Given the description of an element on the screen output the (x, y) to click on. 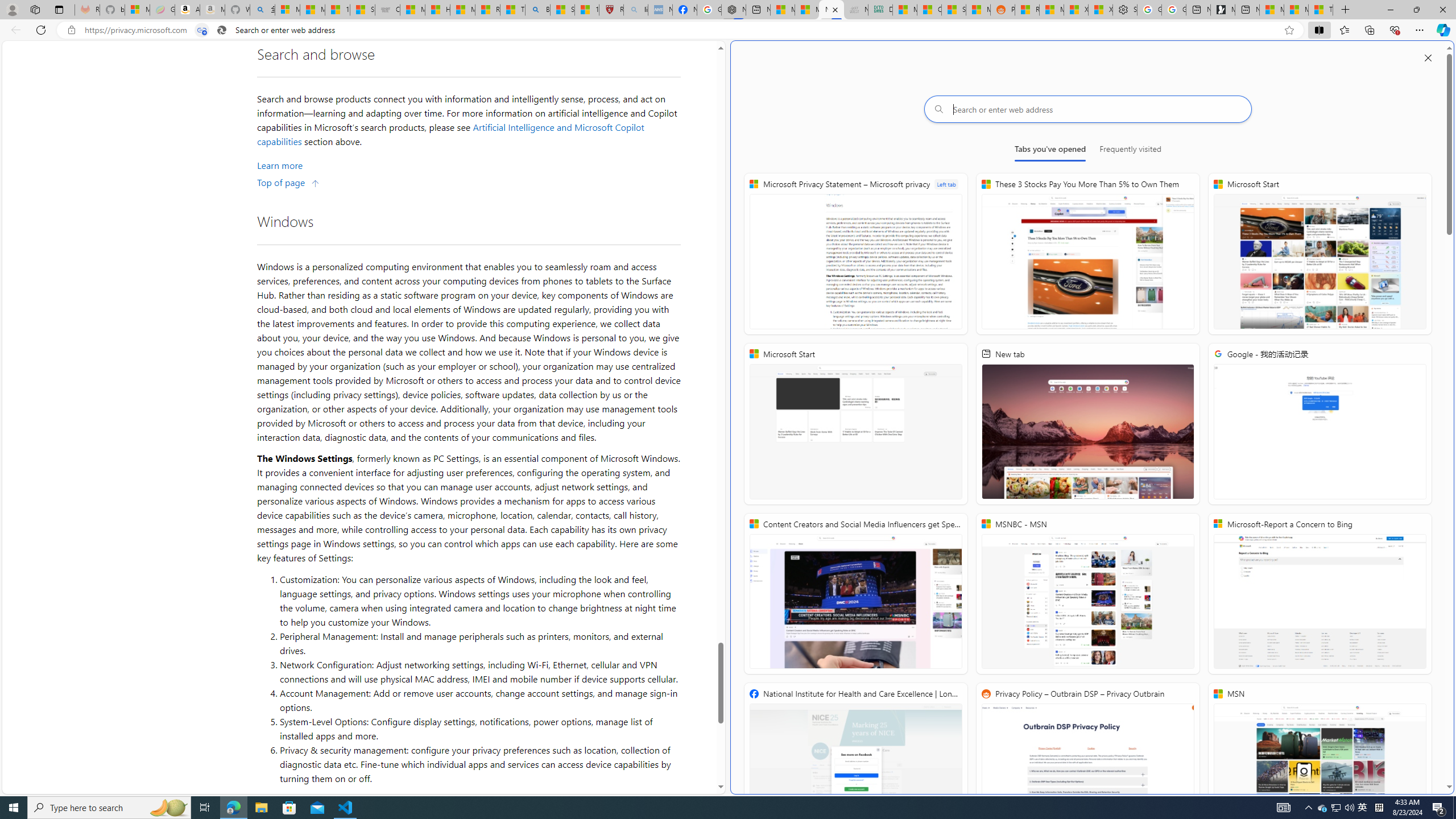
Nordace - Nordace Siena Is Not An Ordinary Backpack (733, 9)
How I Got Rid of Microsoft Edge's Unnecessary Features (437, 9)
